Given the description of an element on the screen output the (x, y) to click on. 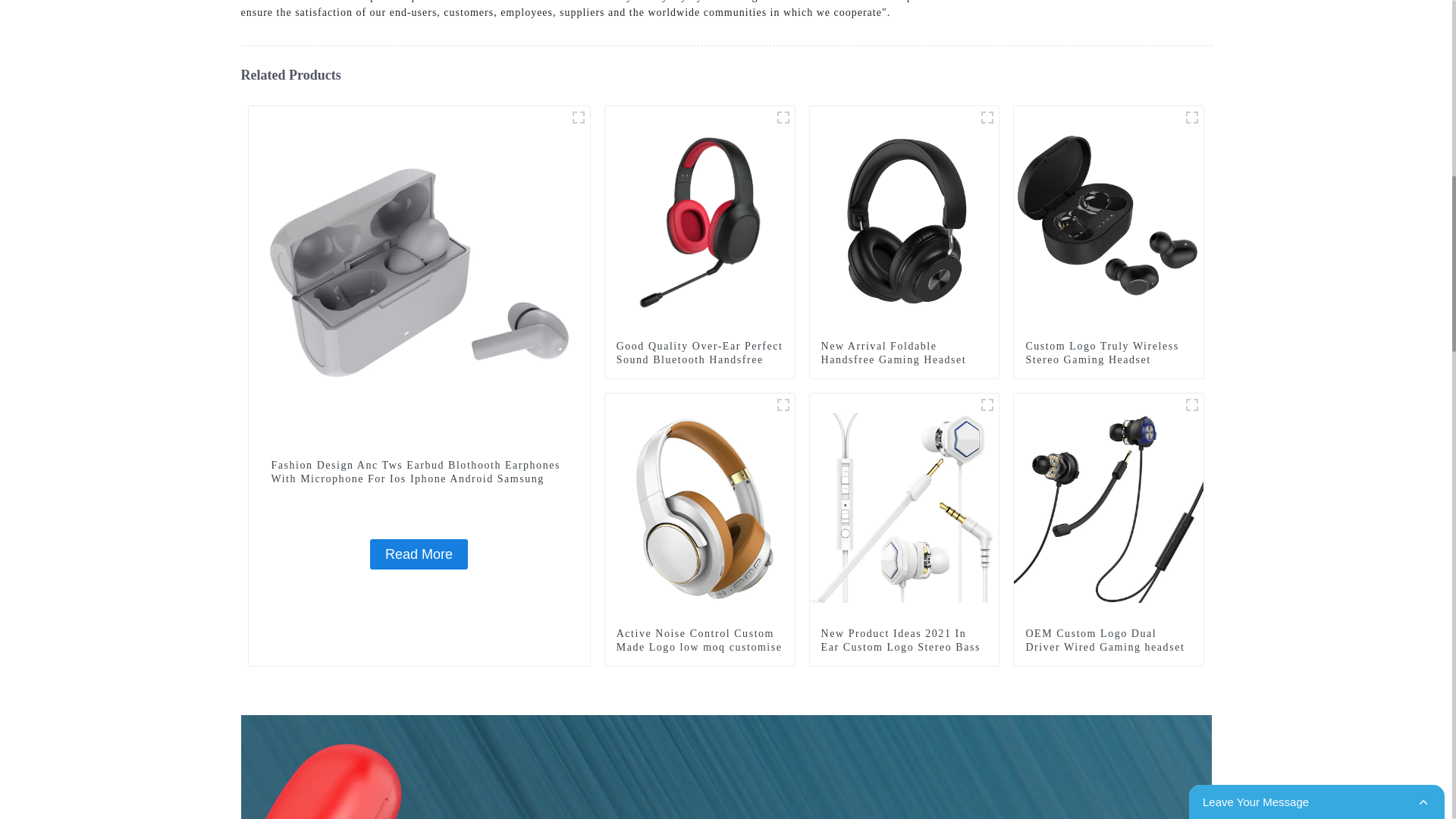
Read More (418, 553)
BT-815.928 (986, 117)
